Given the description of an element on the screen output the (x, y) to click on. 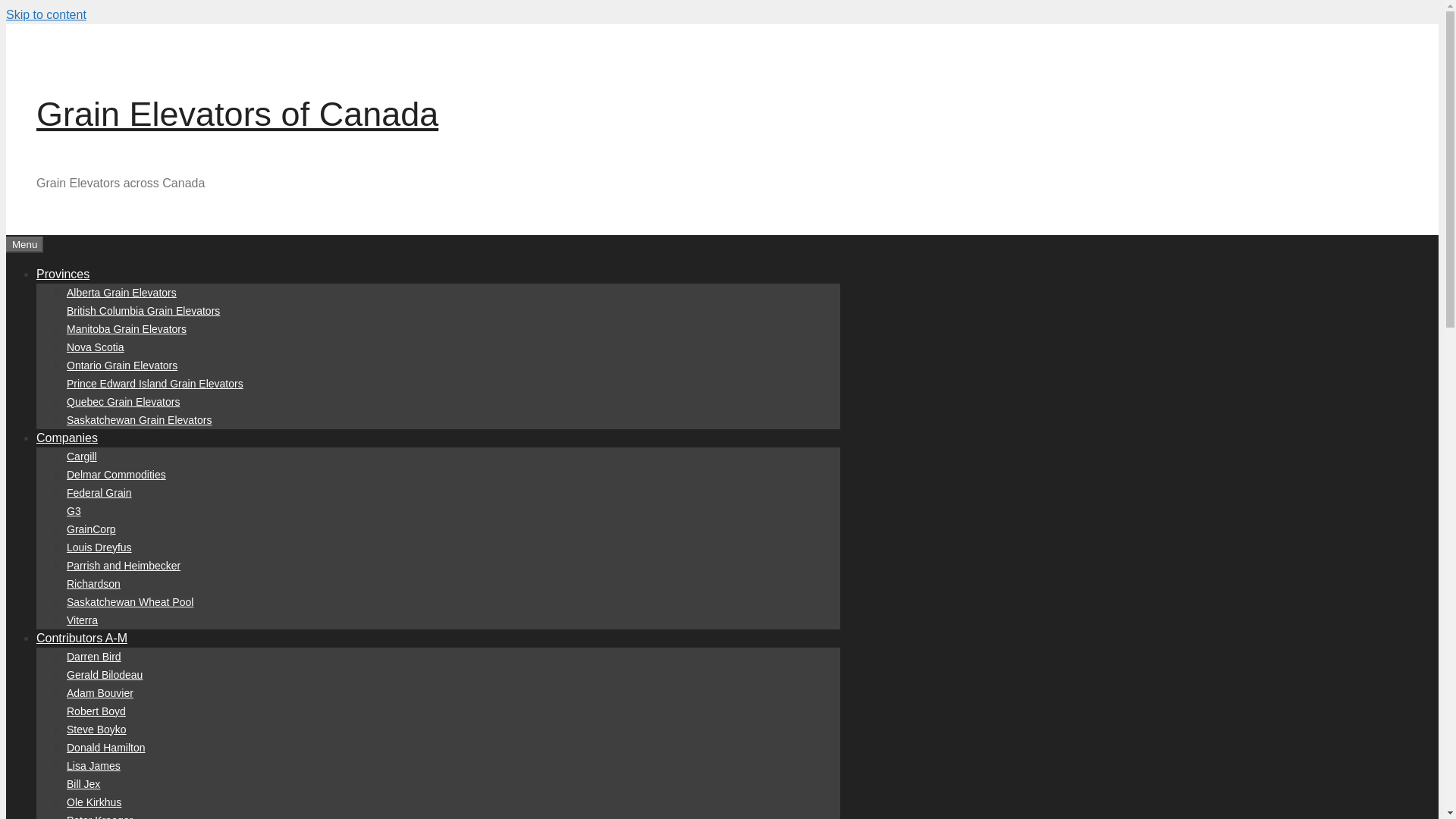
Contributors A-M (82, 636)
Steve Boyko (96, 729)
Darren Bird (93, 656)
Saskatchewan Grain Elevators (138, 419)
Menu (24, 244)
Adam Bouvier (99, 693)
G3 (73, 510)
Companies (66, 436)
Skip to content (45, 14)
Grain Elevators of Canada (237, 114)
